Given the description of an element on the screen output the (x, y) to click on. 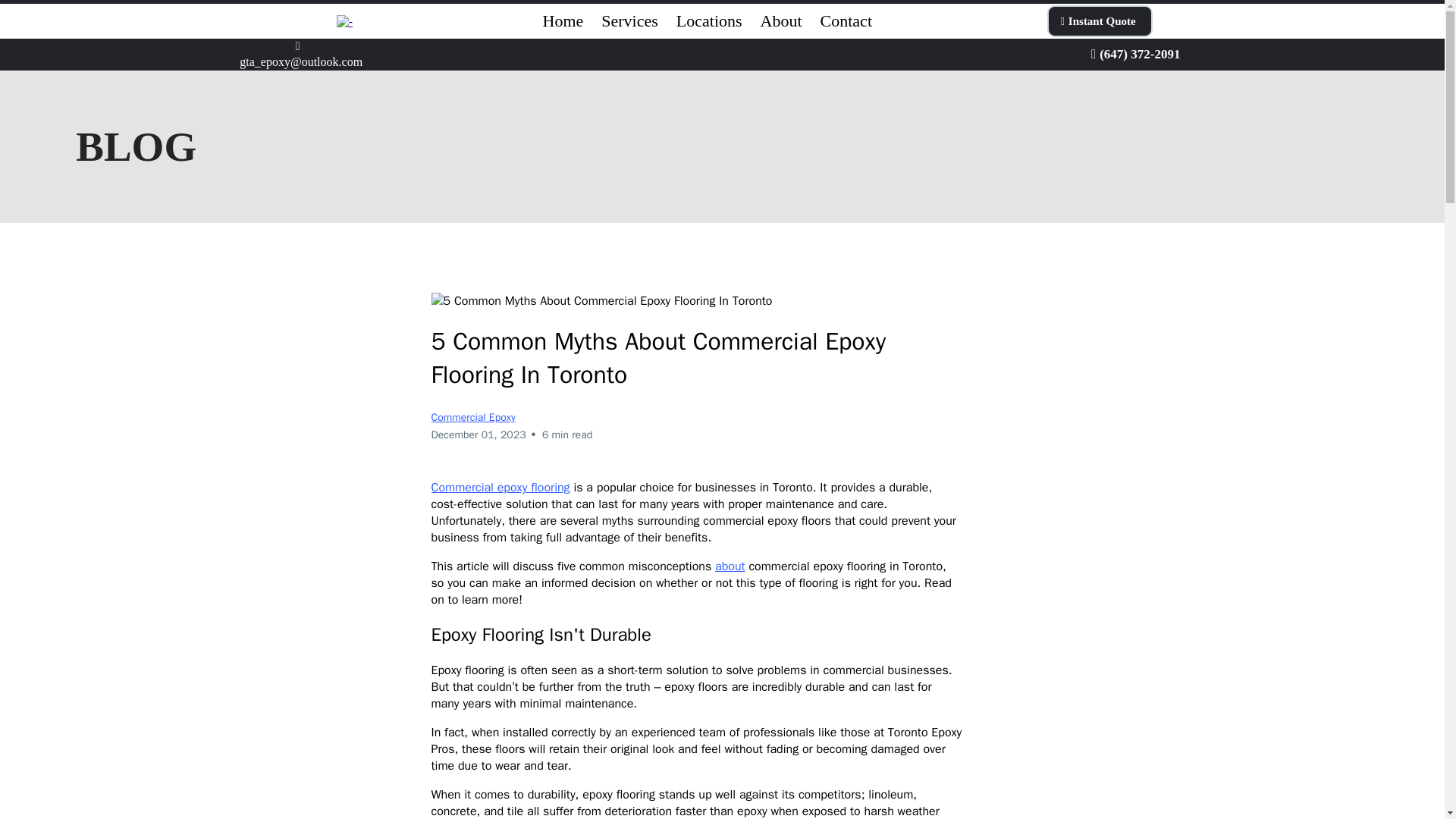
Services (629, 21)
Instant Quote (1098, 20)
Home (563, 21)
Commercial epoxy flooring (499, 487)
About (780, 21)
about (729, 566)
Contact (845, 21)
Commercial Epoxy (472, 417)
Locations (708, 21)
